Given the description of an element on the screen output the (x, y) to click on. 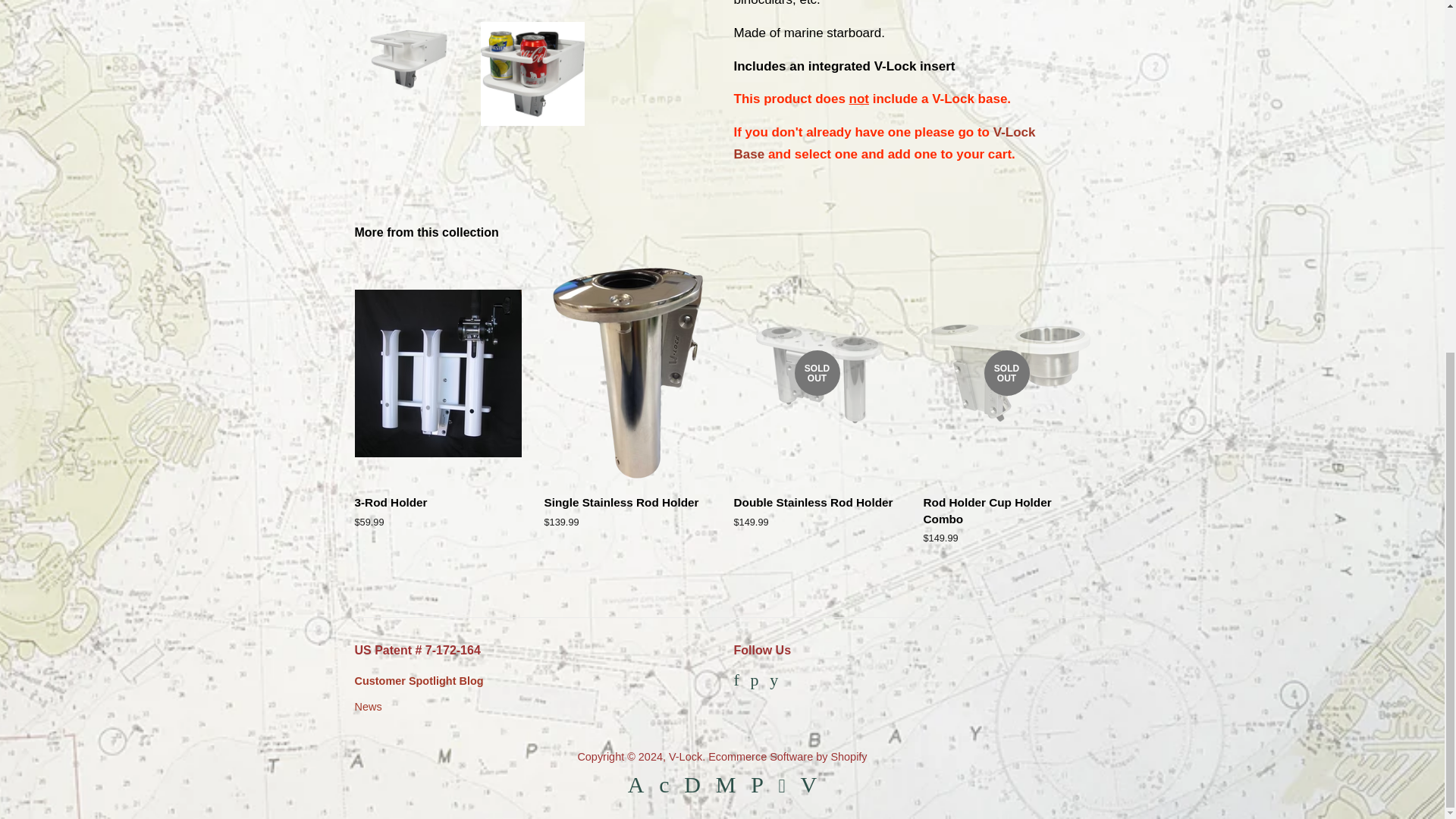
News (368, 706)
Customer Spotlight (419, 680)
Ecommerce Software by Shopify (786, 756)
Customer Spotlight Blog (419, 680)
News (368, 706)
V-Lock (684, 756)
V-Lock Base (884, 143)
Add V-Lock Base (884, 143)
